Given the description of an element on the screen output the (x, y) to click on. 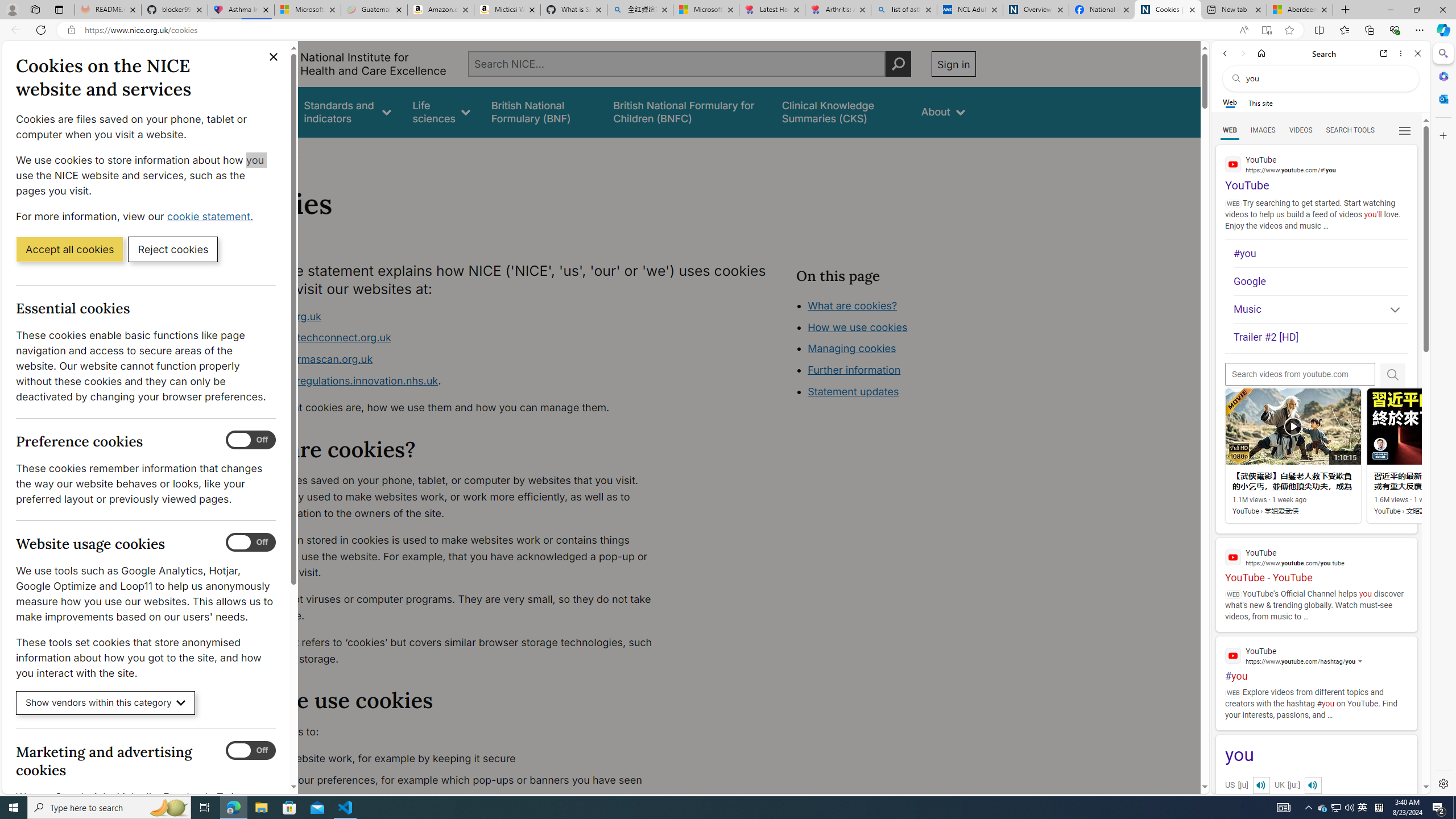
Preference cookies (250, 439)
Music (1320, 309)
Website usage cookies (250, 542)
SEARCH TOOLS (1350, 130)
www.healthtechconnect.org.uk (452, 338)
Web scope (1230, 102)
Home (241, 152)
Life sciences (440, 111)
#you (1320, 253)
